Given the description of an element on the screen output the (x, y) to click on. 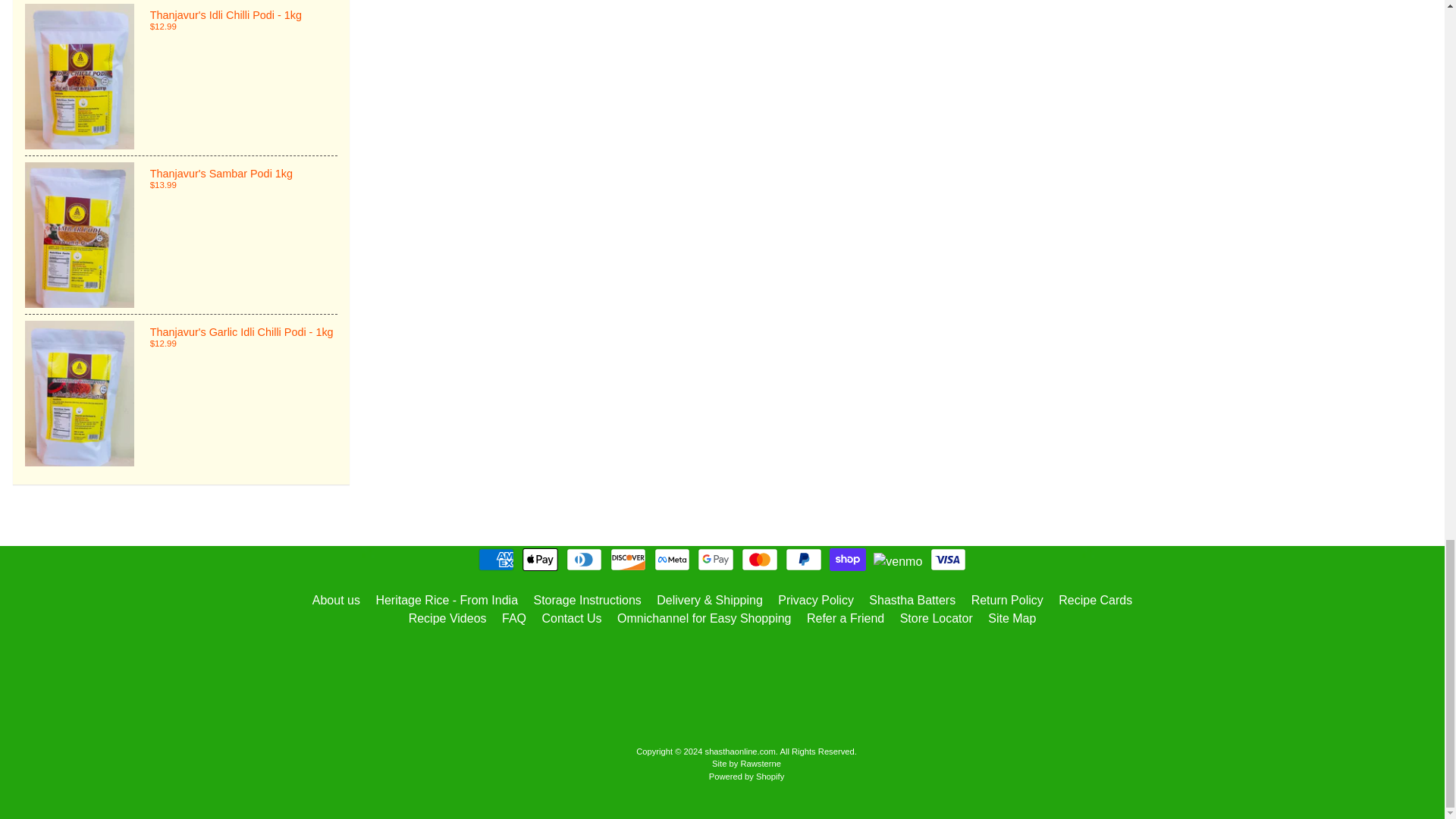
Thanjavur's  Idli  Chilli Podi - 1kg (180, 77)
Thanjavur's Sambar Podi 1kg (180, 234)
Thanjavur's Garlic Idli  Chilli Podi - 1kg (180, 393)
